Given the description of an element on the screen output the (x, y) to click on. 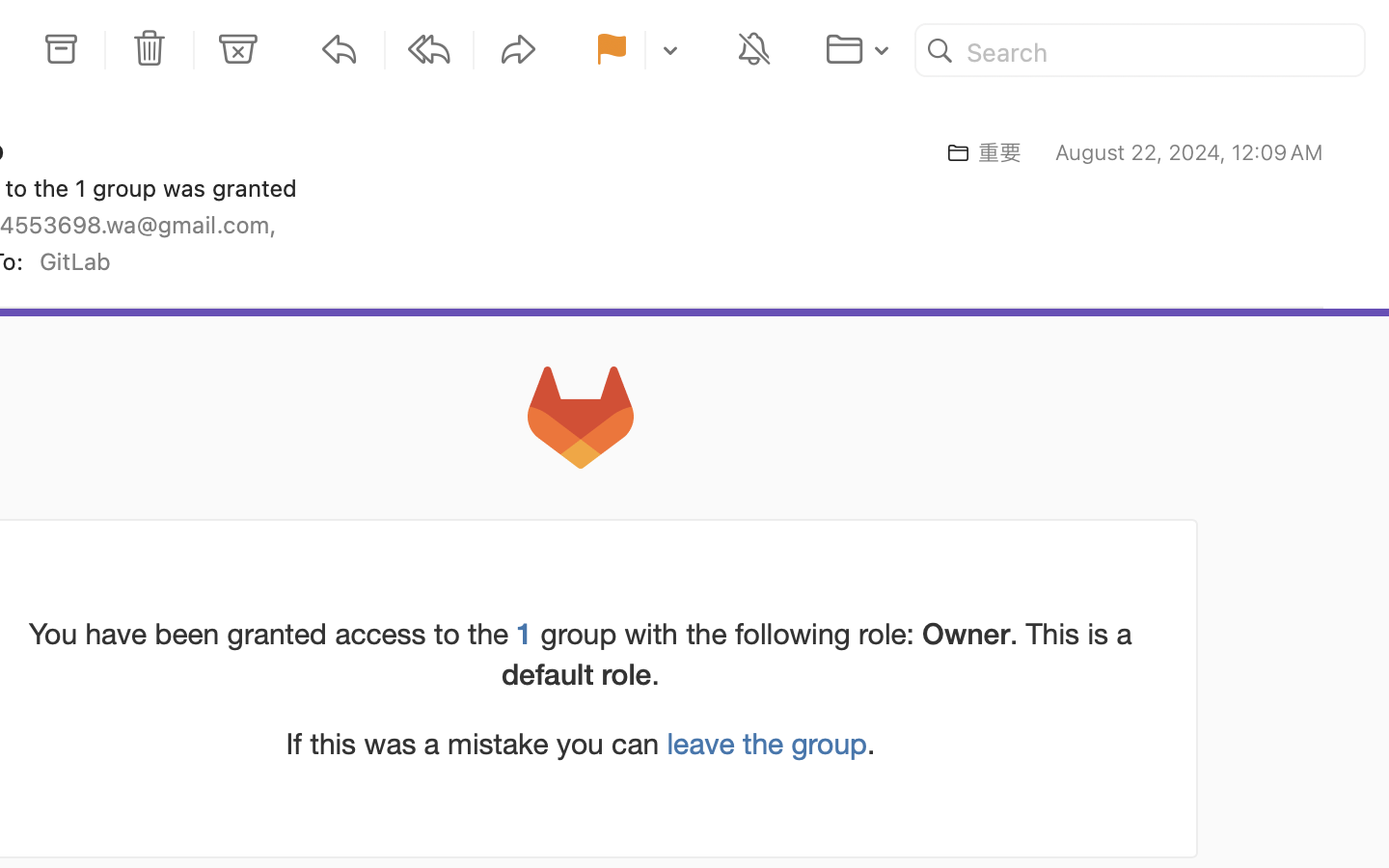
If this was a mistake you can Element type: AXStaticText (476, 743)
Owner Element type: AXStaticText (966, 632)
leave the group Element type: AXStaticText (766, 743)
. This is a Element type: AXStaticText (1070, 633)
group with the following role: Element type: AXStaticText (728, 633)
